Given the description of an element on the screen output the (x, y) to click on. 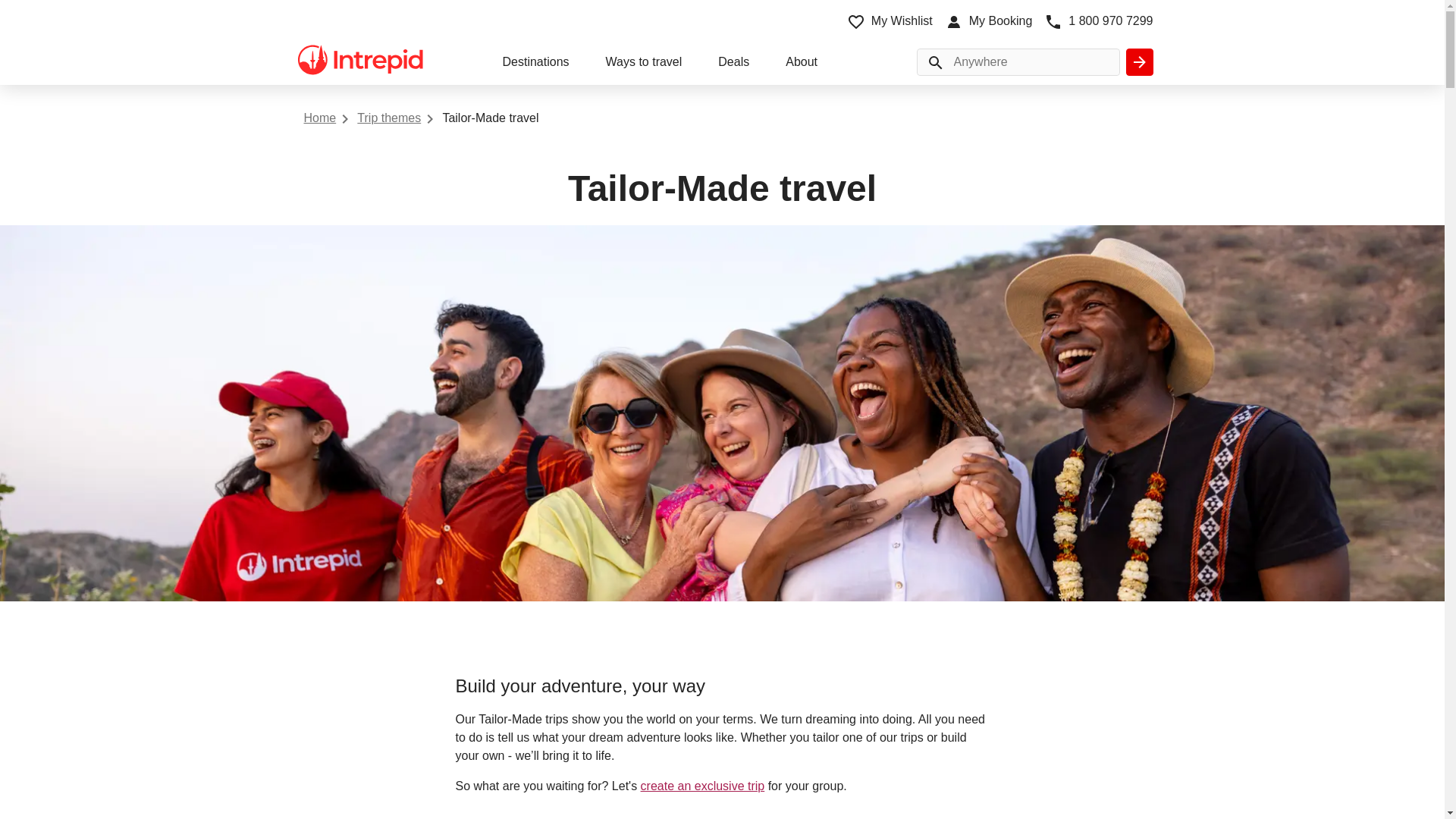
About (801, 63)
Deals (733, 63)
1 800 970 7299 (1098, 21)
My Booking (989, 21)
Ways to travel (644, 63)
Destinations (534, 63)
My Wishlist (890, 21)
